Given the description of an element on the screen output the (x, y) to click on. 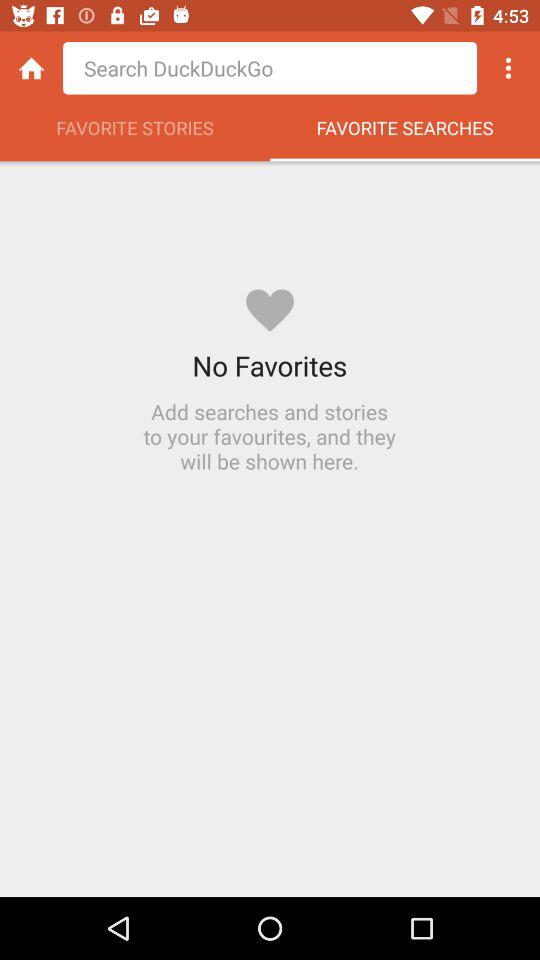
turn off icon next to favorite stories app (405, 133)
